Given the description of an element on the screen output the (x, y) to click on. 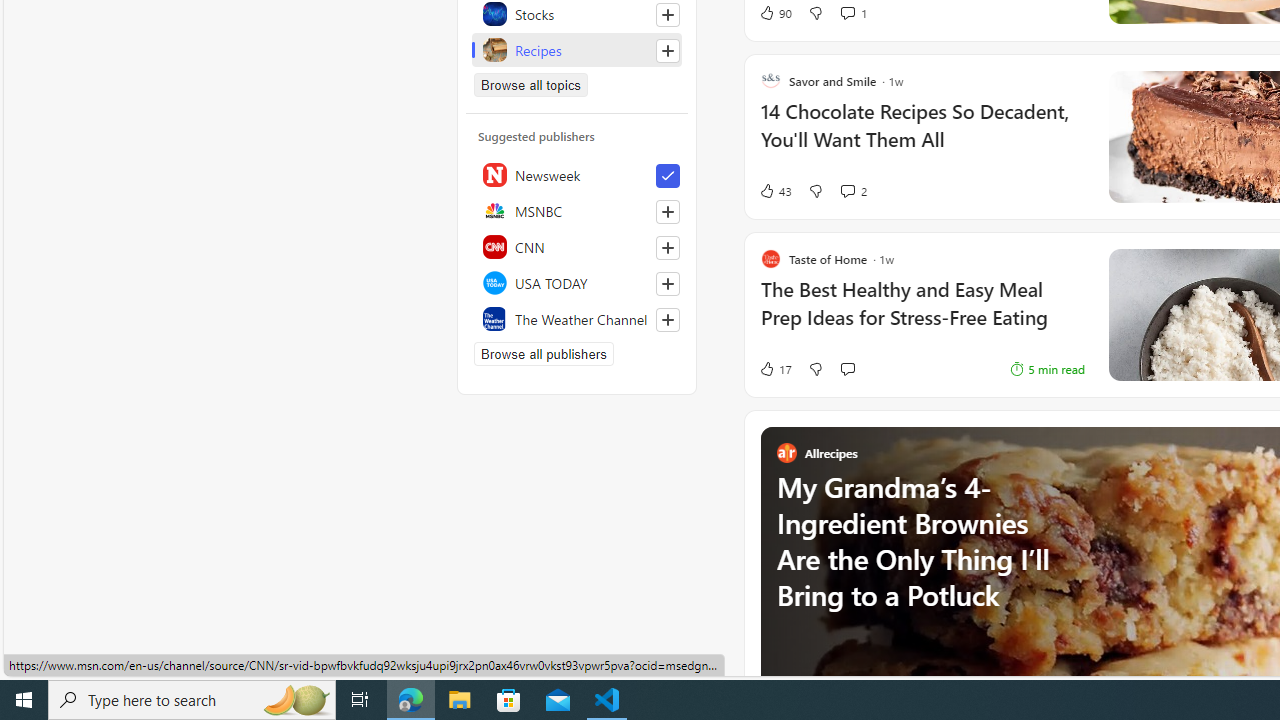
The Weather Channel (577, 318)
Follow this source (667, 319)
Follow this source (667, 319)
Browse all publishers (543, 353)
View comments 2 Comment (852, 191)
USA TODAY (577, 282)
MSNBC (577, 210)
Unfollow this source (667, 175)
Follow this topic (667, 50)
Follow this topic (667, 50)
14 Chocolate Recipes So Decadent, You'll Want Them All (922, 135)
